Given the description of an element on the screen output the (x, y) to click on. 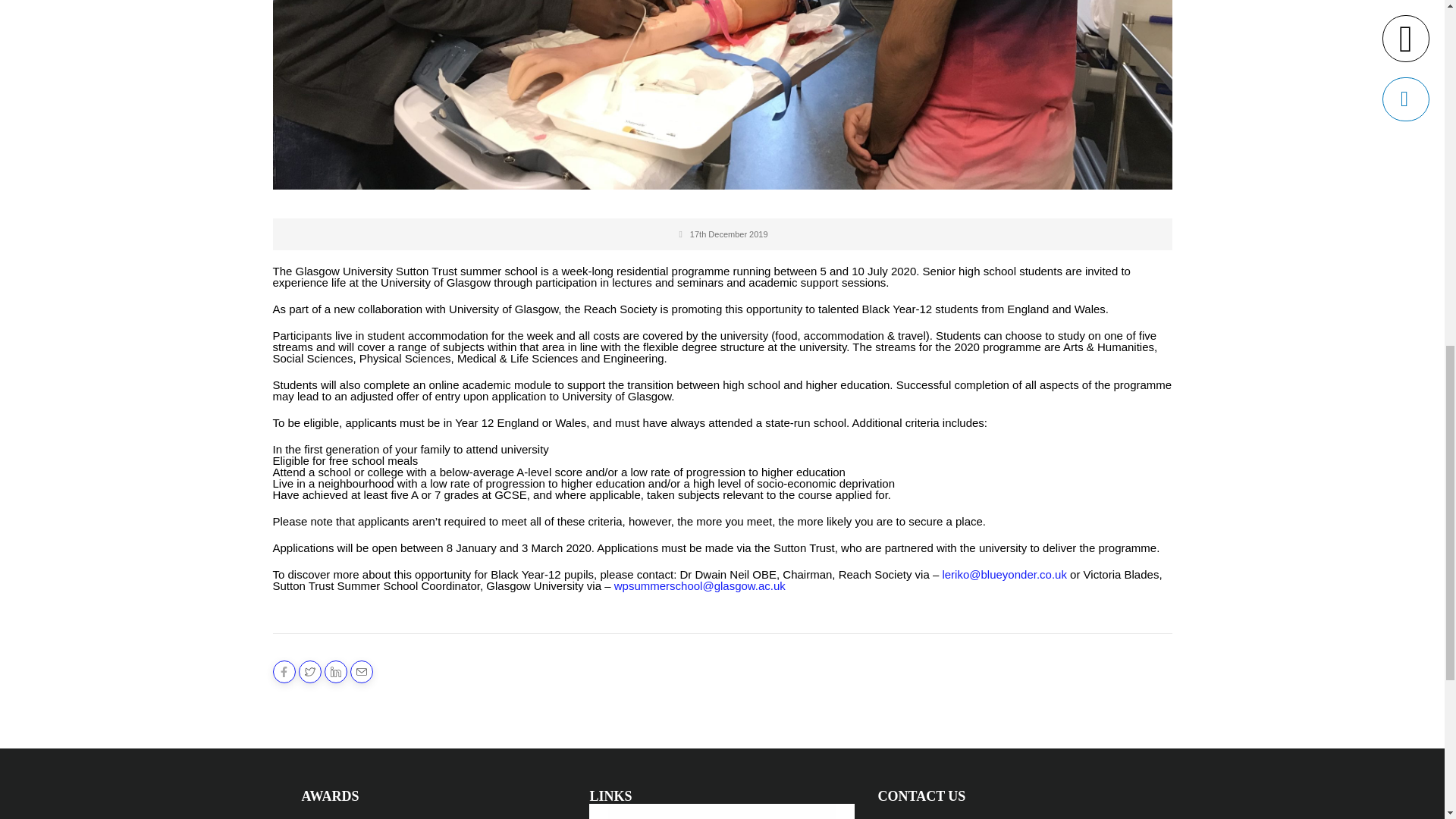
BCC Member logo (721, 811)
